Given the description of an element on the screen output the (x, y) to click on. 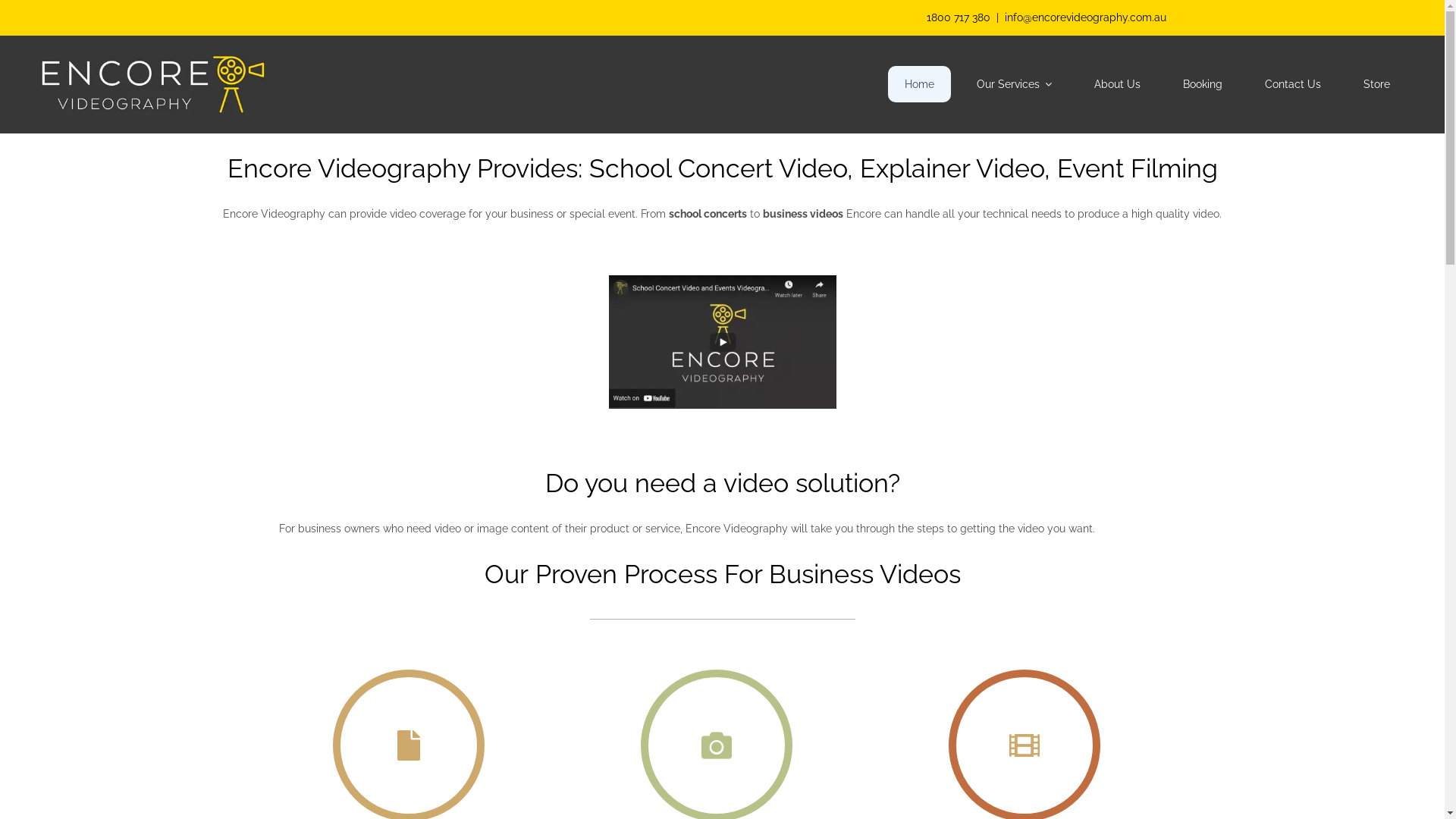
Store Element type: text (1376, 83)
Contact Us Element type: text (1292, 83)
1800 717 380 Element type: text (958, 17)
Booking Element type: text (1202, 83)
Home Element type: text (919, 83)
| Element type: text (997, 17)
Our Services Element type: text (1014, 83)
info@encorevideography.com.au Element type: text (1084, 17)
About Us Element type: text (1117, 83)
